Given the description of an element on the screen output the (x, y) to click on. 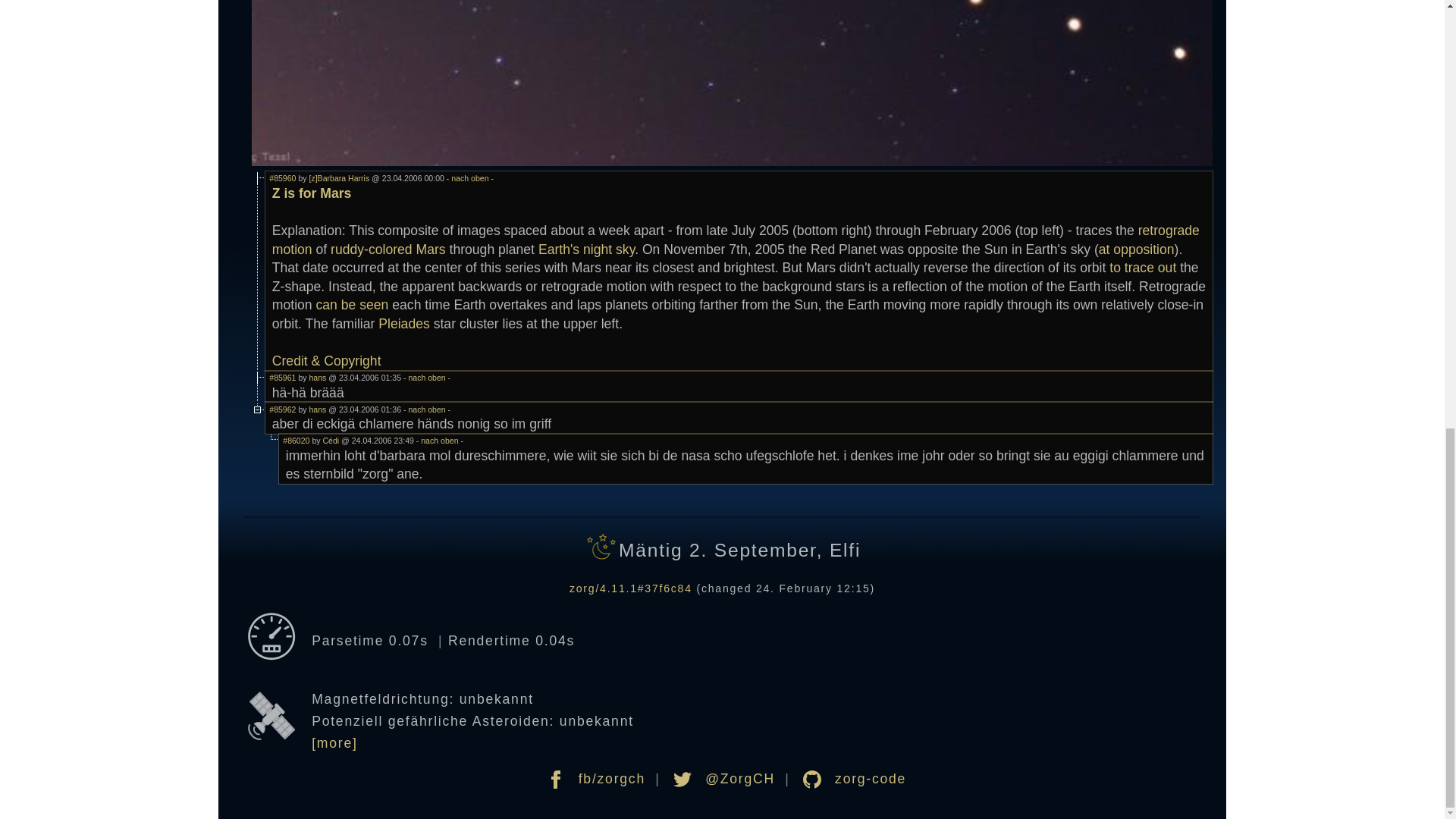
- nach oben - (468, 177)
Pleiades (403, 323)
can be seen (351, 304)
ruddy-colored Mars (387, 249)
Z is for Mars (312, 192)
- nach oben - (425, 377)
Earth's night sky (586, 249)
hans (317, 377)
